Given the description of an element on the screen output the (x, y) to click on. 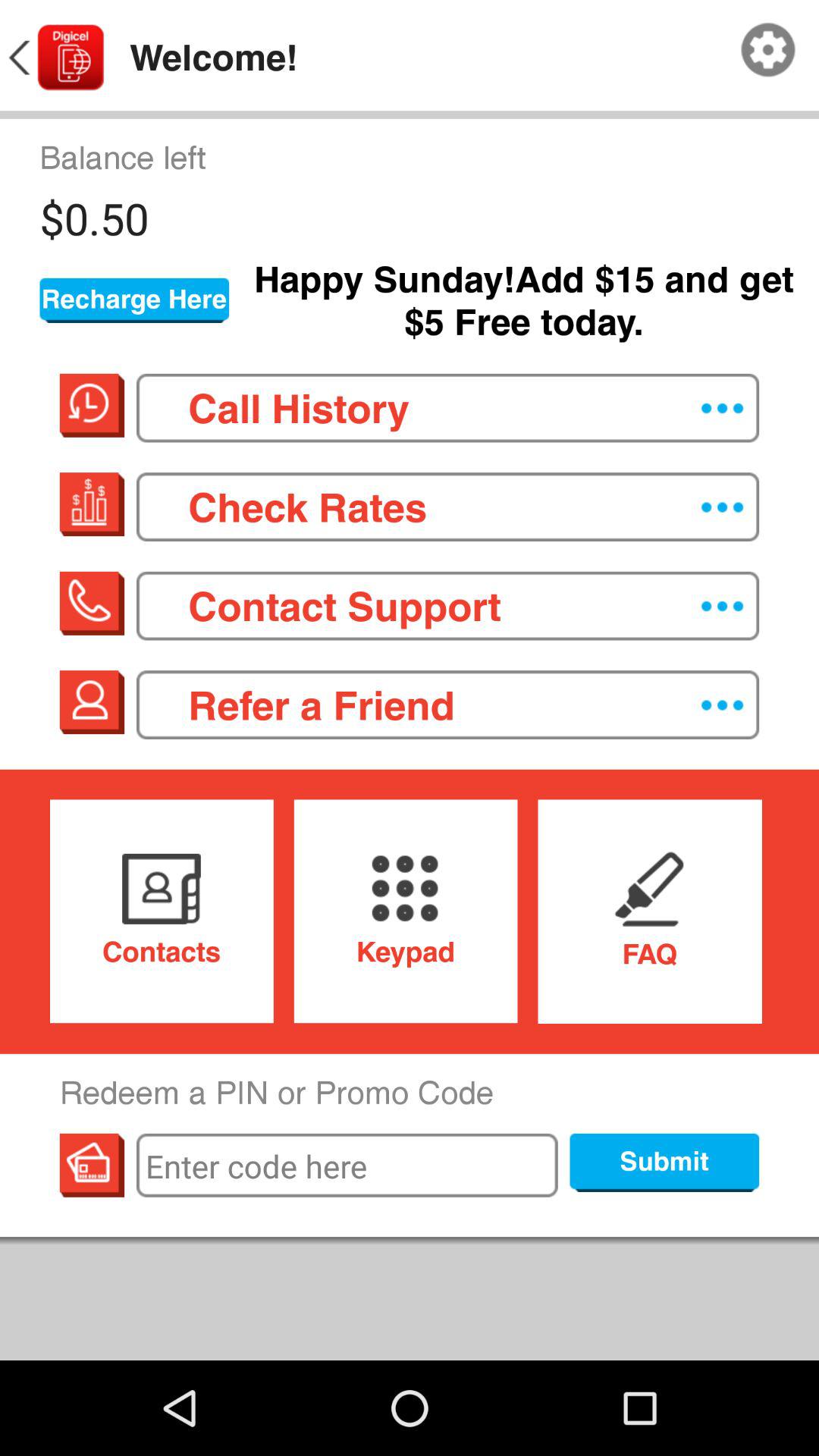
select icon below check rates icon (447, 605)
